Given the description of an element on the screen output the (x, y) to click on. 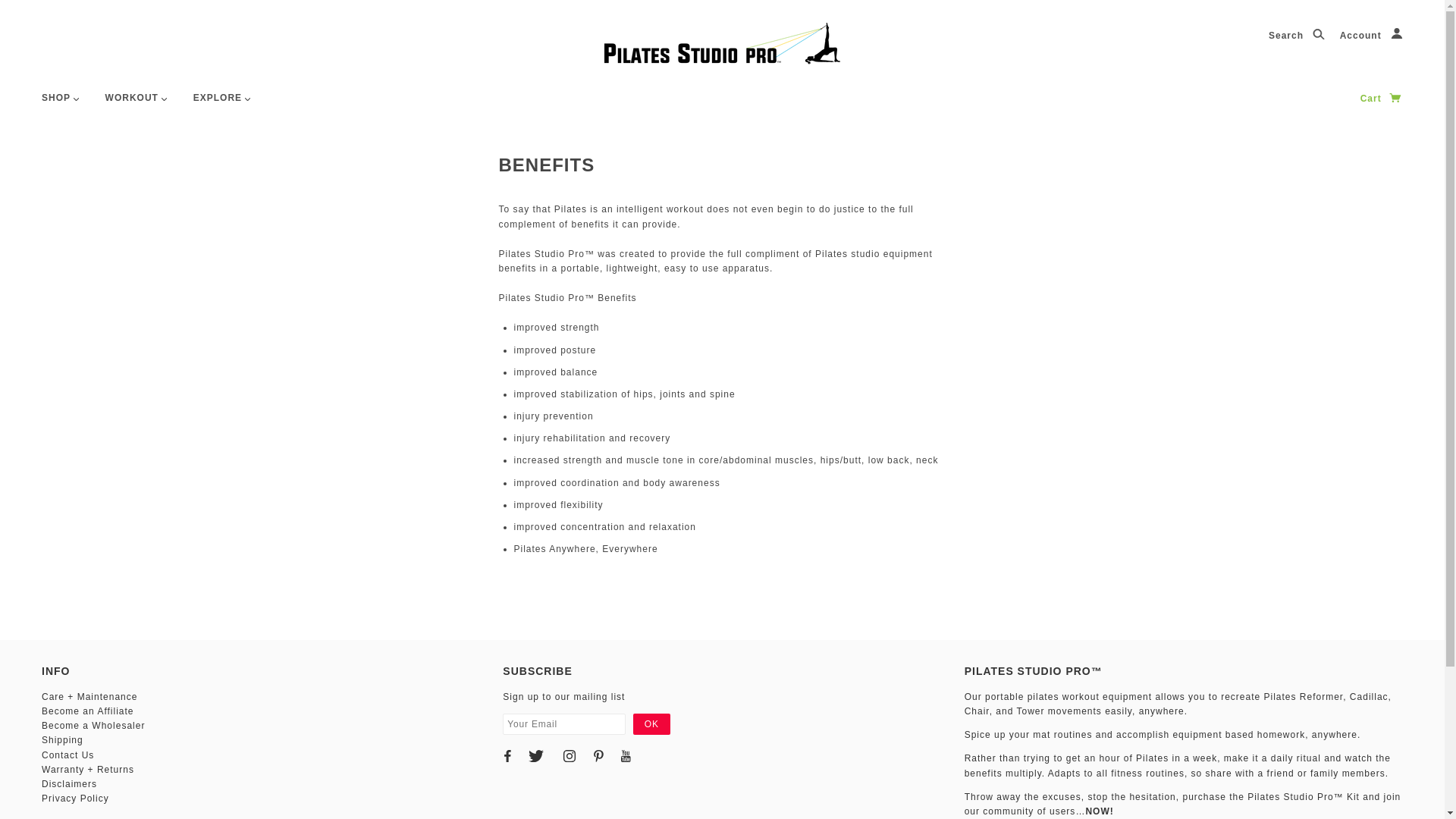
Become a Wholesaler (93, 725)
Privacy Policy (75, 798)
JOIN the PSPro Community (1181, 803)
Account (1371, 35)
Contact Us (68, 755)
Become an Affiliate (87, 710)
Shipping (62, 739)
Disclaimers (69, 783)
OK (651, 723)
Search (1296, 35)
